Given the description of an element on the screen output the (x, y) to click on. 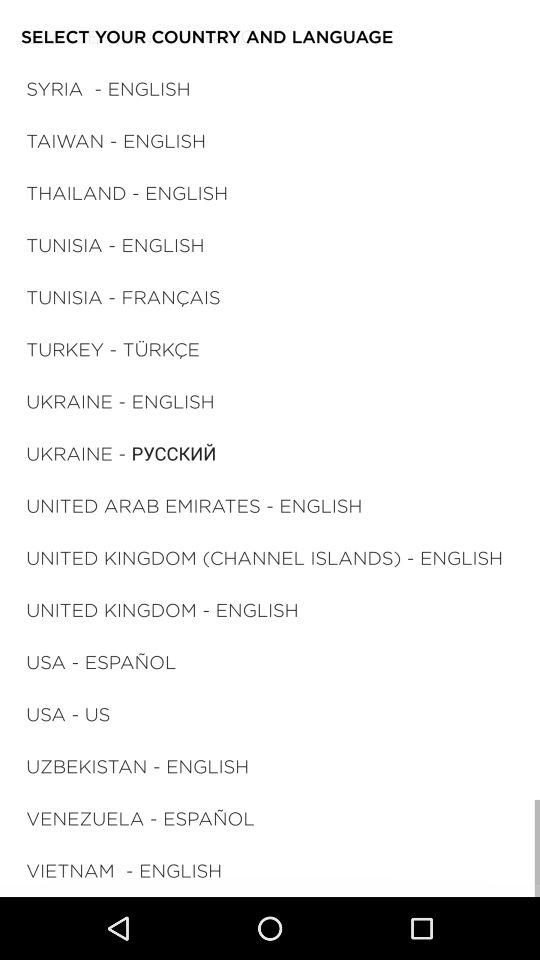
click the vietnam  - english icon (124, 870)
